Given the description of an element on the screen output the (x, y) to click on. 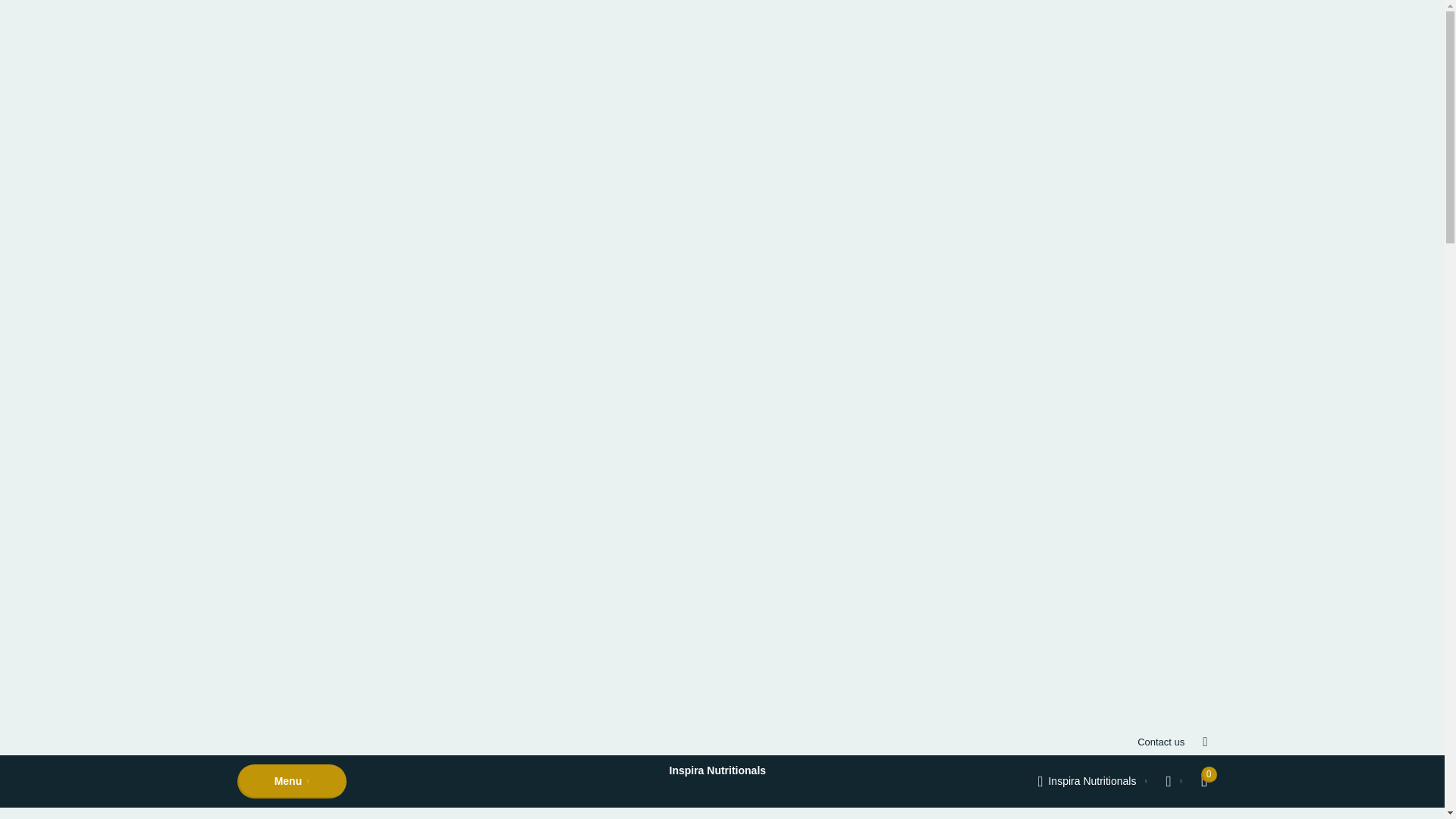
Skin Rejuvenation (278, 812)
Skin Dehydration (381, 812)
Facts on Acne (472, 812)
Menu (290, 781)
Inspira Nutritionals (1093, 781)
Secrets of Aging (563, 812)
Contact us (1161, 741)
About Us (643, 812)
